Given the description of an element on the screen output the (x, y) to click on. 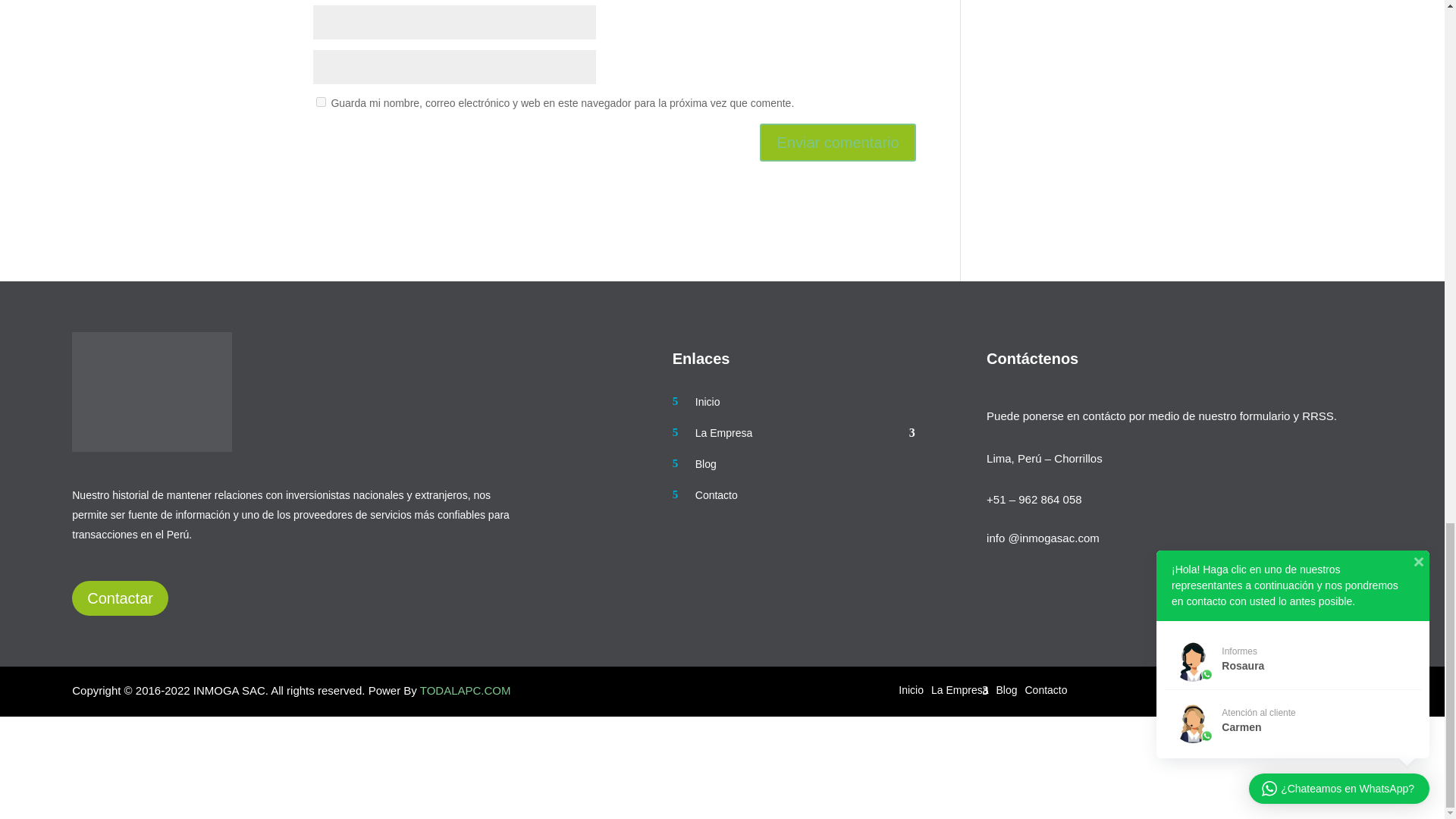
Seguir en Twitter (1329, 689)
Inicio (793, 409)
Enviar comentario (837, 142)
Blog (793, 471)
Contactar (119, 597)
Contacto (793, 502)
Seguir en Youtube (1360, 689)
Seguir en Instagram (1299, 689)
LogoB450x338 (151, 392)
yes (319, 102)
La Empresa (793, 440)
Seguir en Facebook (1269, 689)
Enviar comentario (837, 142)
